Given the description of an element on the screen output the (x, y) to click on. 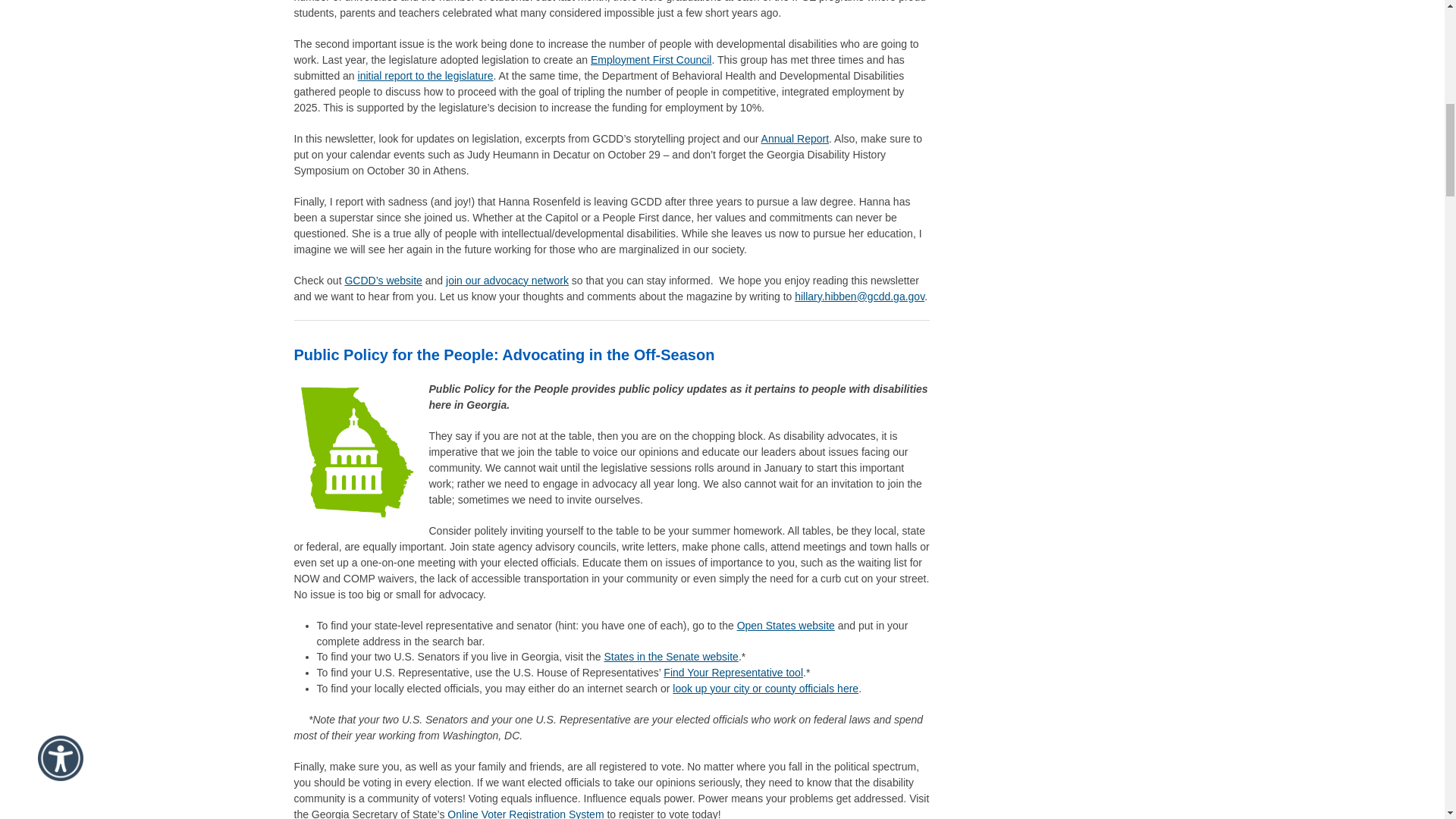
2019 Advocacy Days - Registration Opens in December (357, 451)
